Given the description of an element on the screen output the (x, y) to click on. 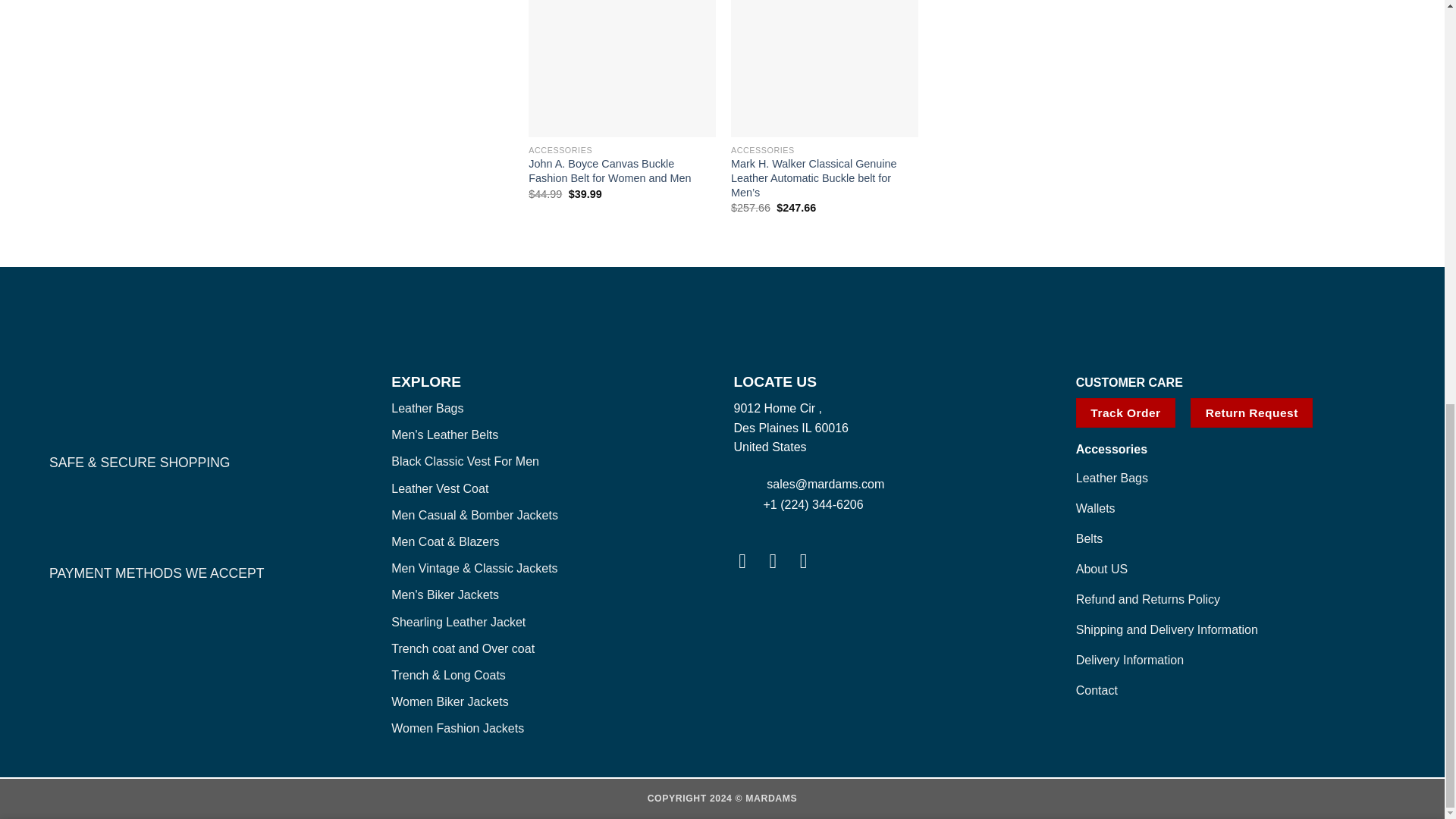
Follow on Instagram (780, 560)
Follow on Facebook (748, 560)
Follow on Twitter (810, 560)
